Given the description of an element on the screen output the (x, y) to click on. 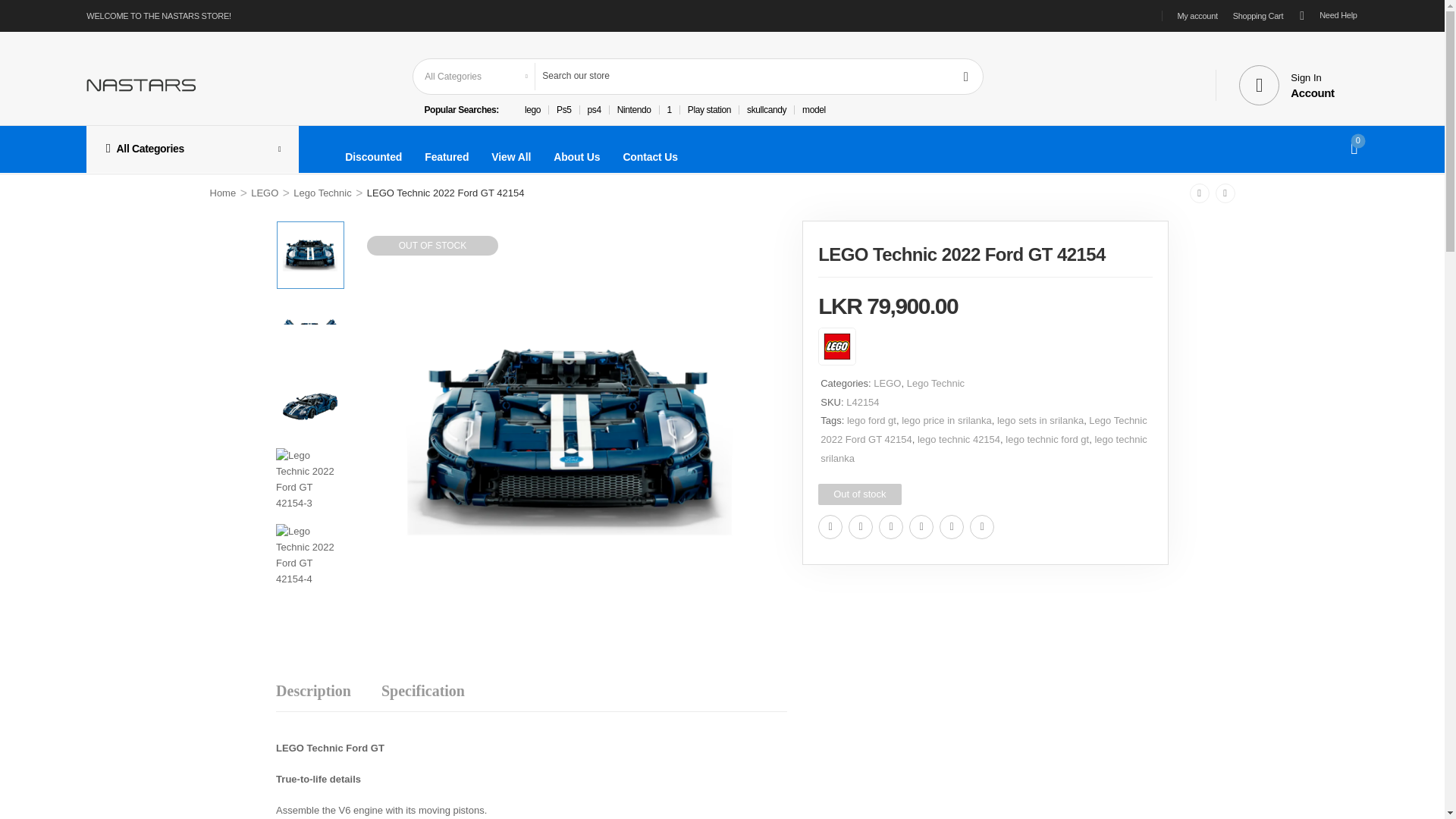
Nintendo (633, 109)
About Us (576, 156)
All Categories (191, 149)
model (812, 109)
My account (1196, 15)
Ps5 (563, 109)
Discounted (373, 156)
ps4 (593, 109)
skullcandy (1286, 85)
